Given the description of an element on the screen output the (x, y) to click on. 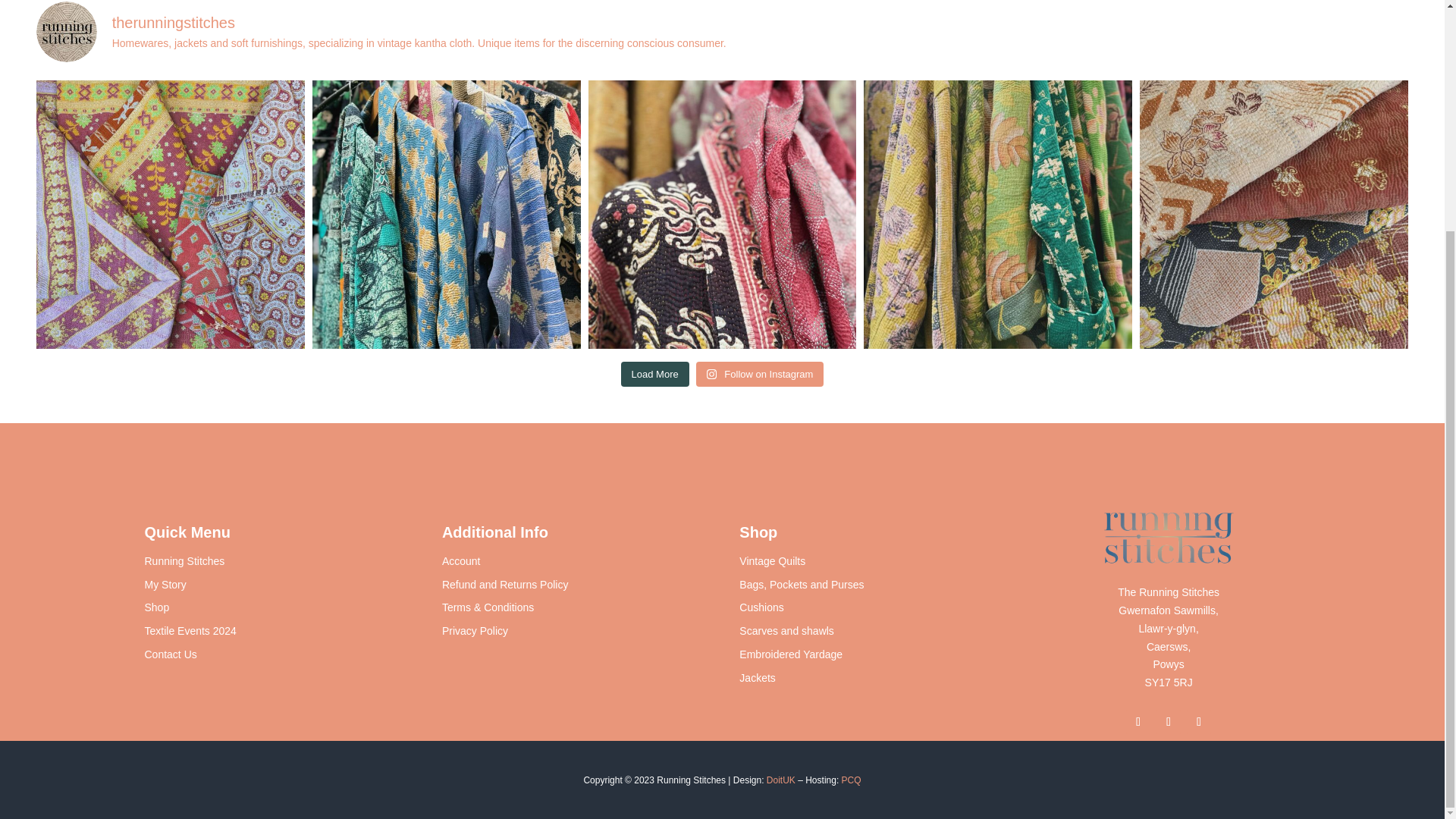
Follow on Facebook (1137, 721)
running-stitches-revised-logo-05 (1167, 538)
Follow on Instagram (1168, 721)
Follow on Pinterest (1198, 721)
